Given the description of an element on the screen output the (x, y) to click on. 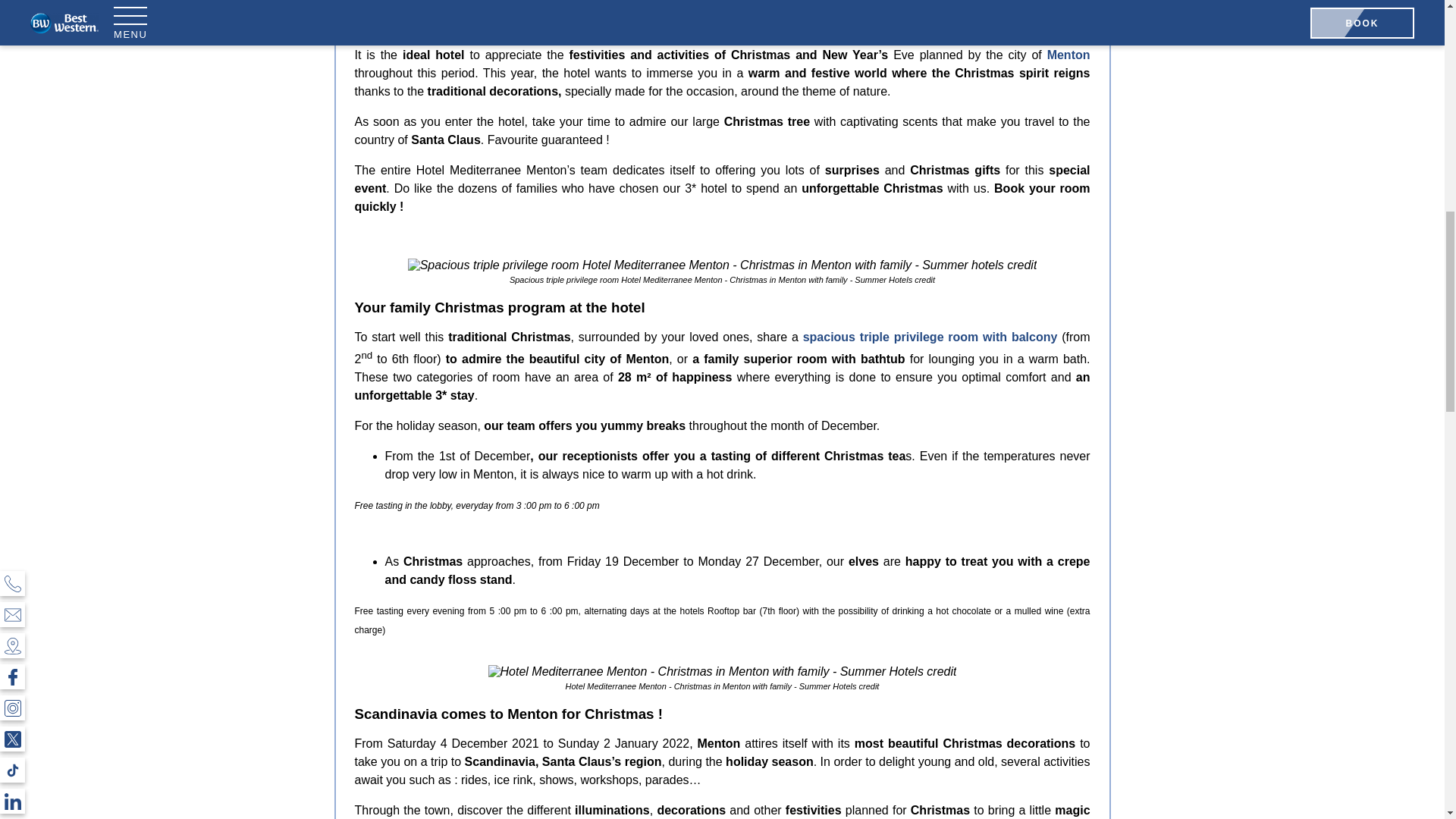
spacious triple privilege room (890, 336)
location (711, 6)
Hotel Mediterranee Menton (502, 6)
with balcony (1017, 336)
prime (669, 6)
Menton (1068, 54)
